Given the description of an element on the screen output the (x, y) to click on. 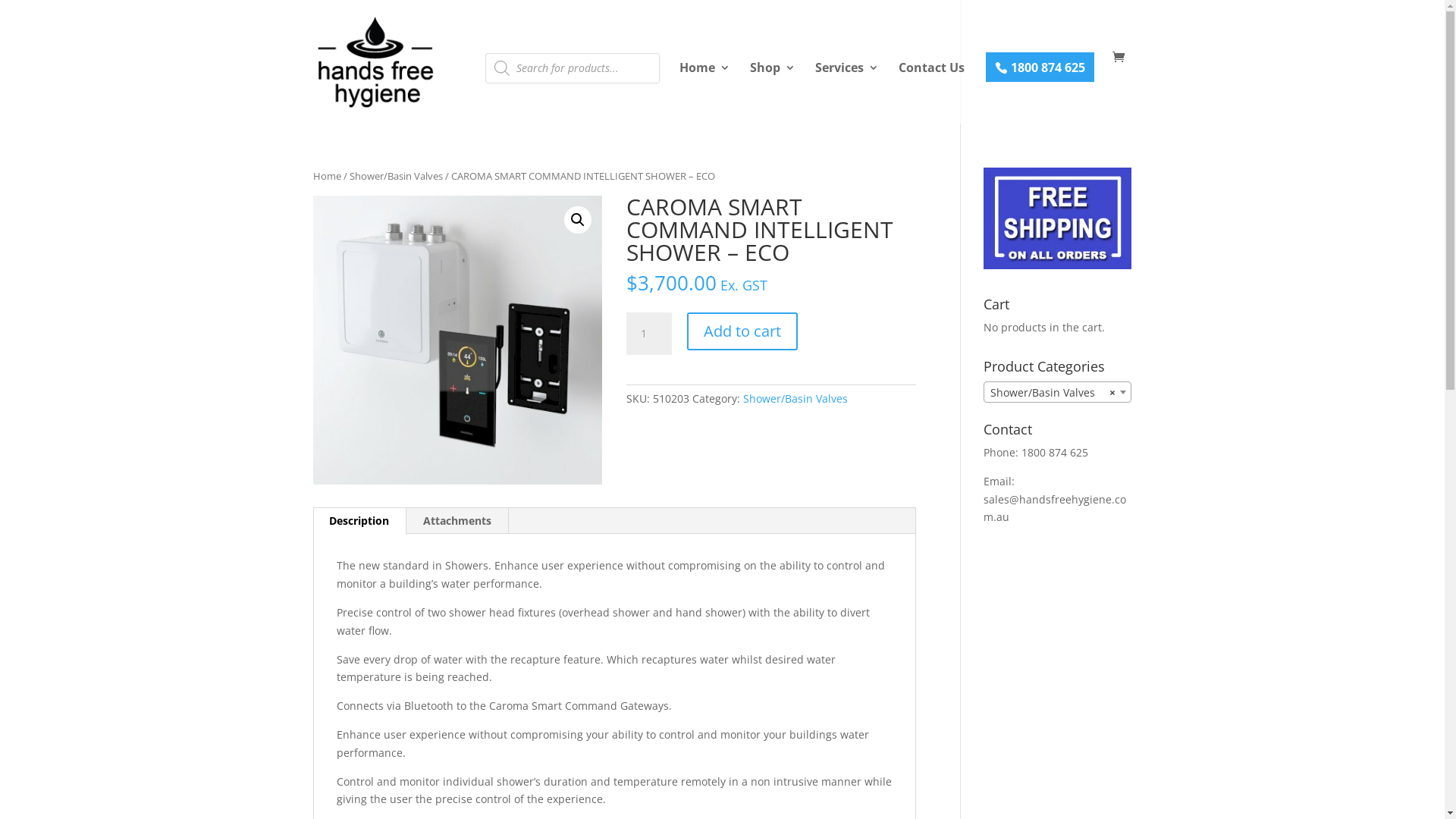
Shower/Basin Valves Element type: text (395, 175)
Description Element type: text (358, 520)
Services Element type: text (846, 92)
Home Element type: text (326, 175)
SBV 7 a Element type: hover (457, 340)
Attachments Element type: text (457, 520)
Add to cart Element type: text (742, 331)
Shower/Basin Valves Element type: text (795, 398)
1800 874 625 Element type: text (1039, 66)
Shop Element type: text (771, 92)
Qty Element type: hover (648, 333)
Contact Us Element type: text (930, 92)
Home Element type: text (704, 92)
